Given the description of an element on the screen output the (x, y) to click on. 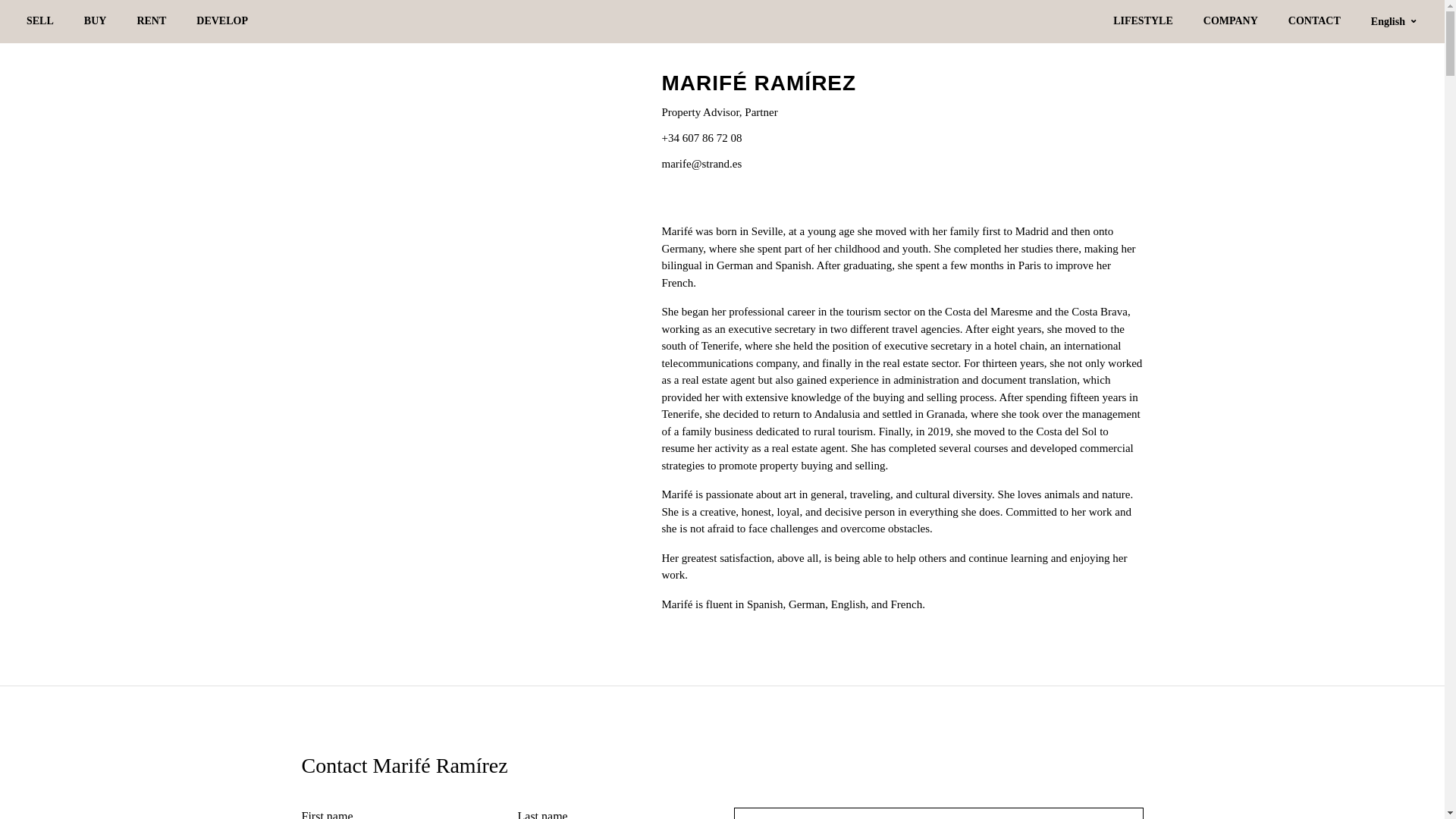
English (1394, 21)
DEVELOP (221, 21)
LIFESTYLE (1143, 21)
COMPANY (1230, 21)
CONTACT (1314, 21)
English (1394, 21)
